Given the description of an element on the screen output the (x, y) to click on. 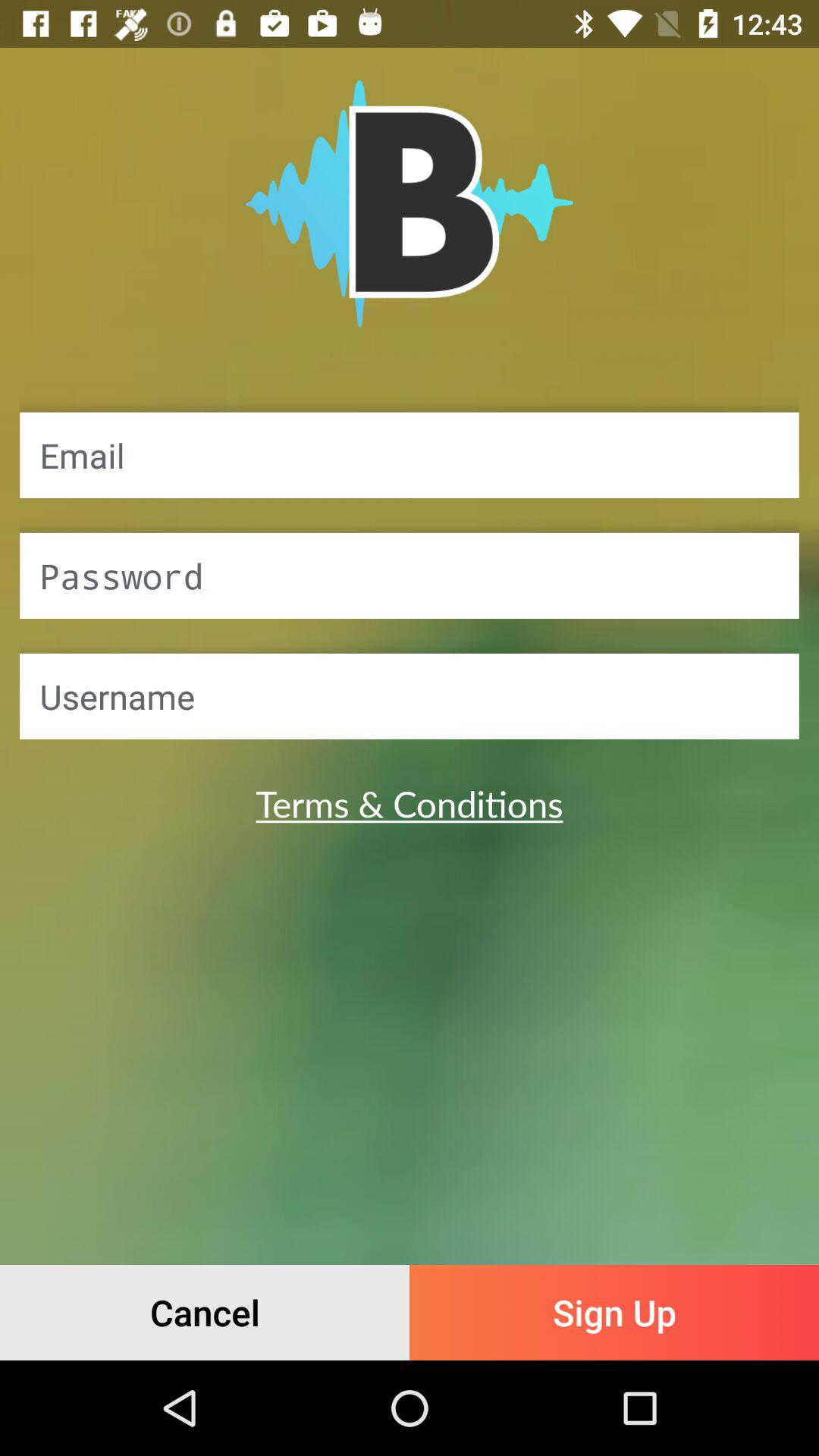
turn off item above cancel icon (409, 803)
